Given the description of an element on the screen output the (x, y) to click on. 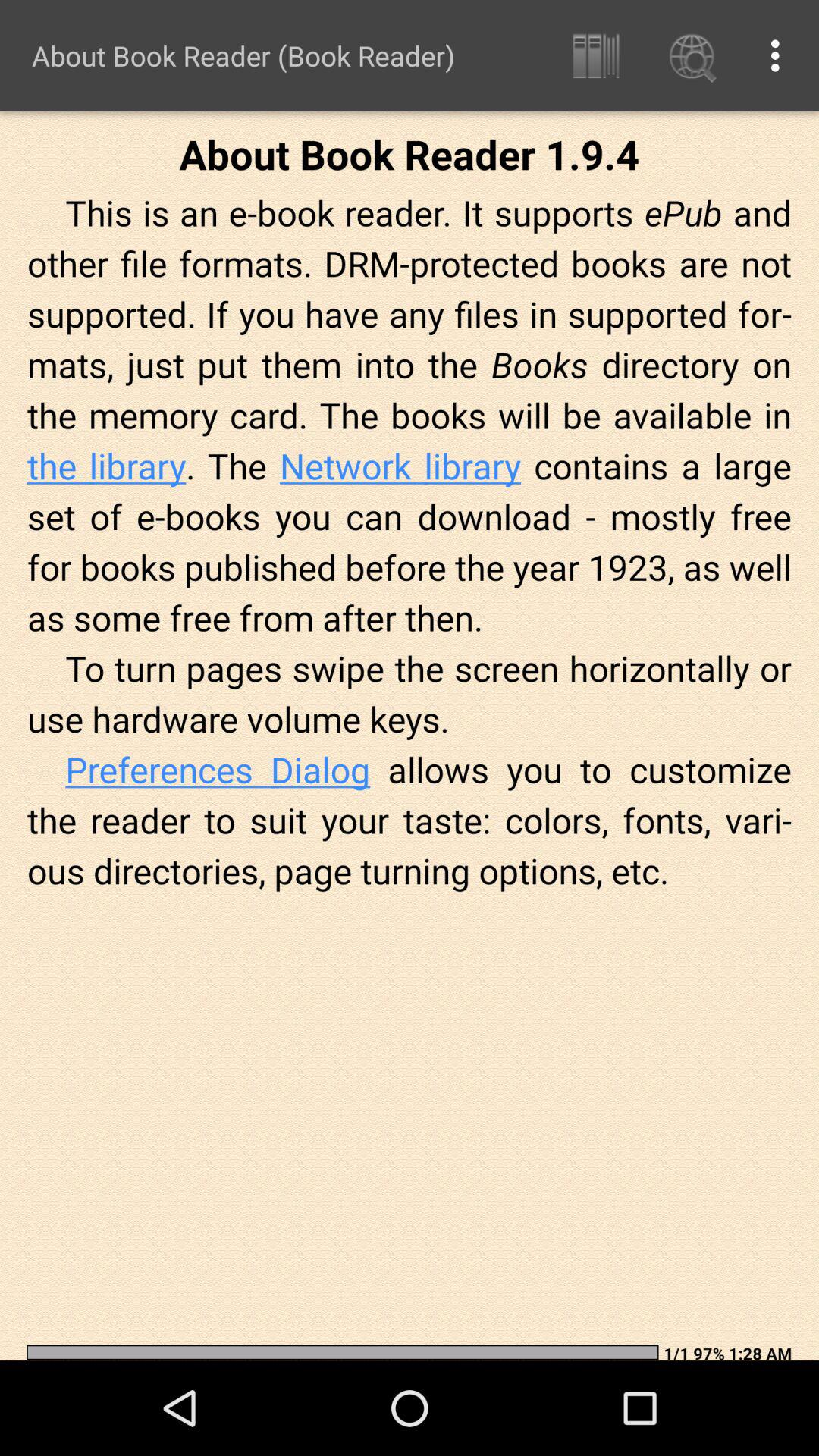
turn off item at the top left corner (243, 55)
